Given the description of an element on the screen output the (x, y) to click on. 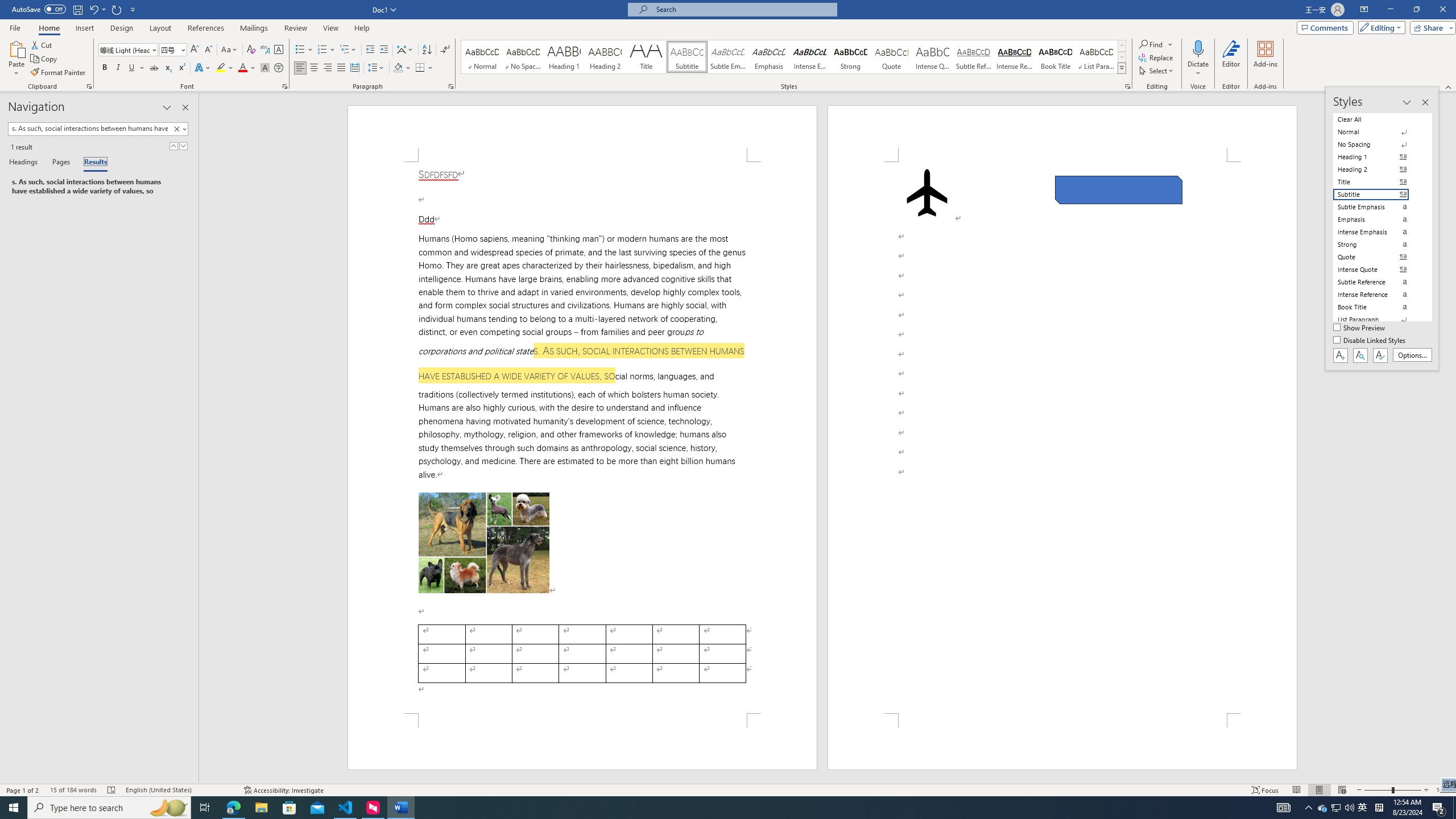
No Spacing (1377, 144)
Quote (891, 56)
